Given the description of an element on the screen output the (x, y) to click on. 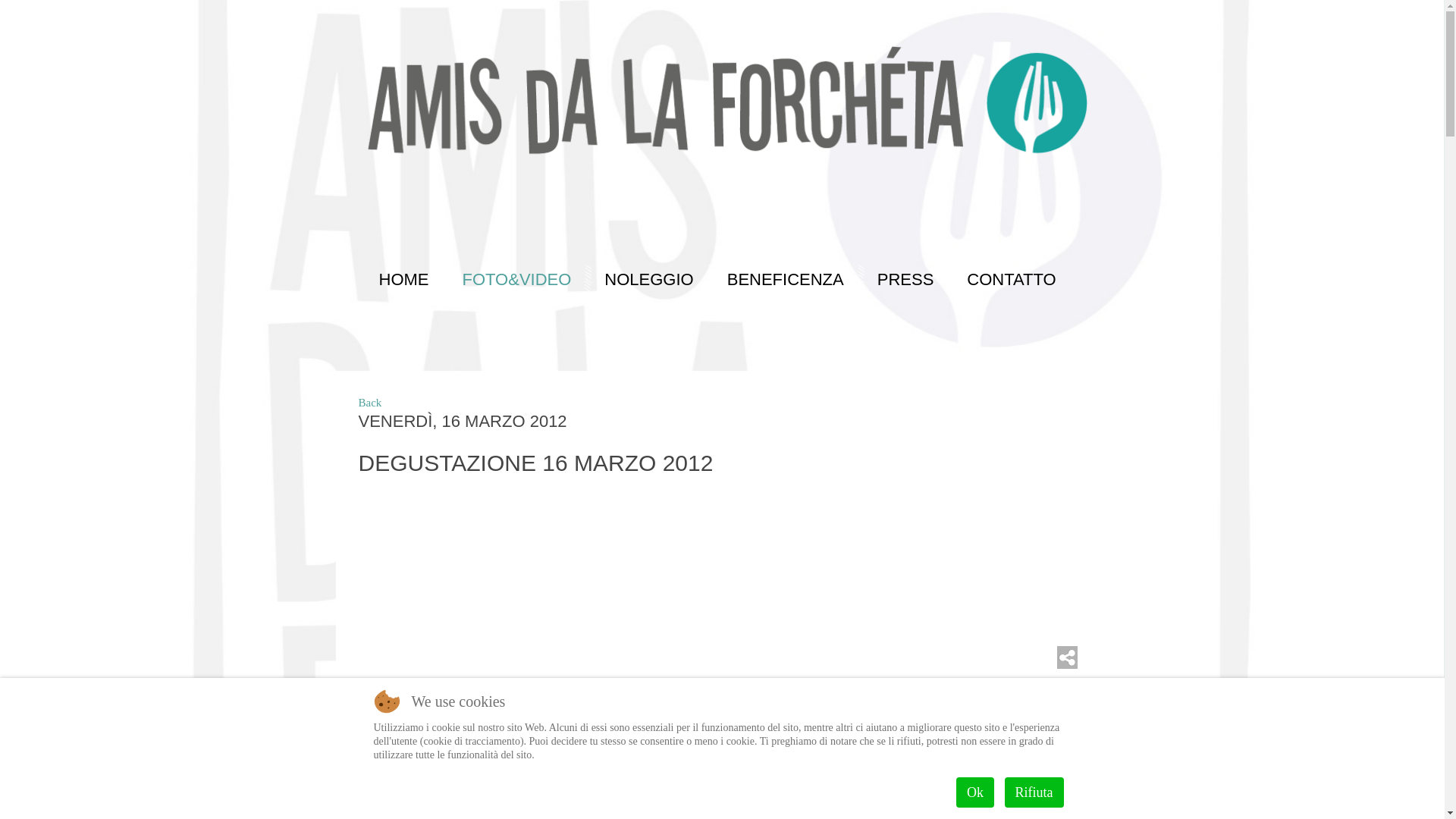
Share Element type: hover (1067, 657)
Back Element type: text (369, 402)
BENEFICENZA Element type: text (781, 279)
PRESS Element type: text (901, 279)
CONTATTO Element type: text (1007, 279)
Ok Element type: text (975, 792)
FOTO&VIDEO Element type: text (512, 279)
NOLEGGIO Element type: text (644, 279)
Rifiuta Element type: text (1033, 792)
HOME Element type: text (399, 279)
